Given the description of an element on the screen output the (x, y) to click on. 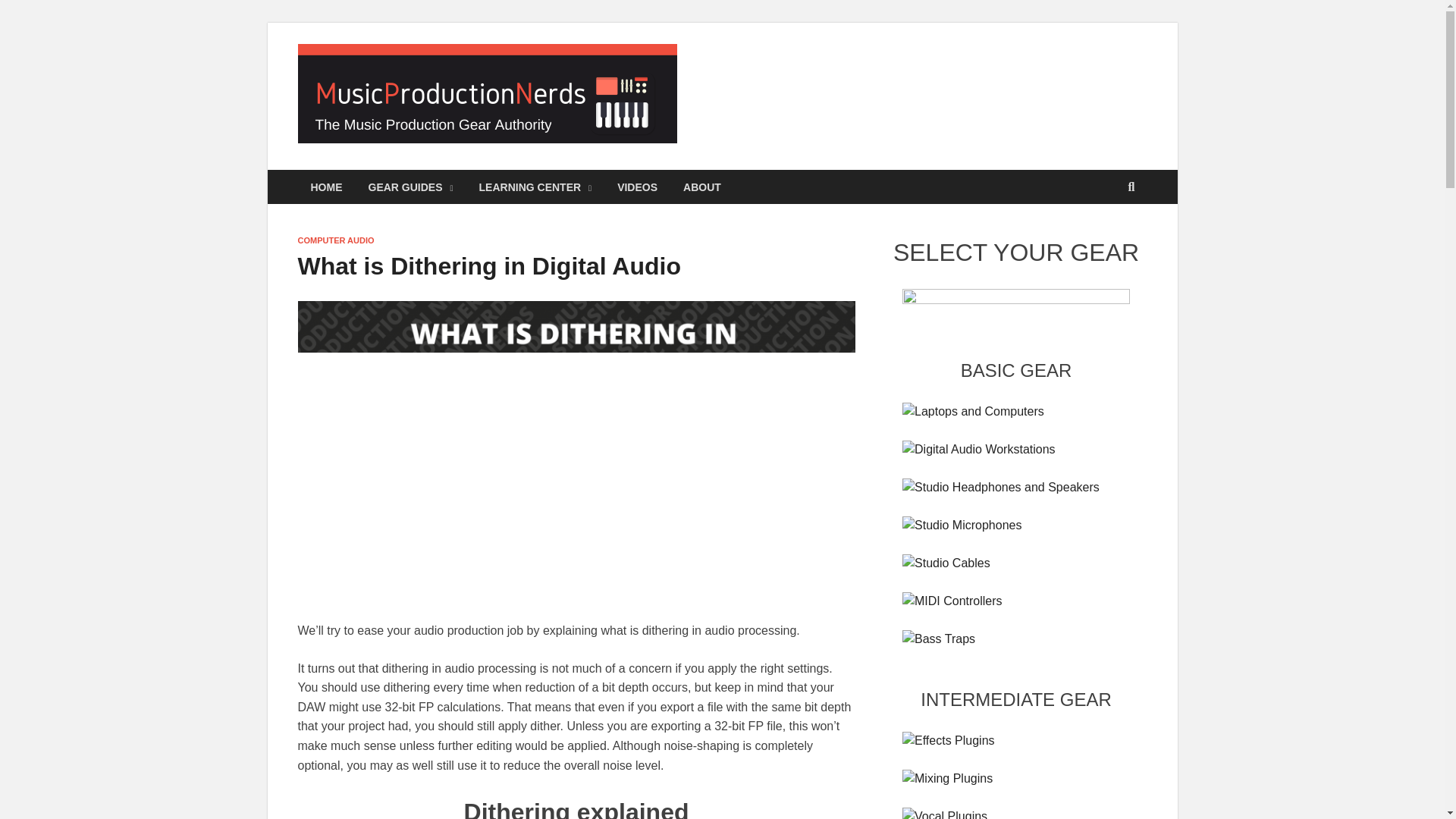
VIDEOS (636, 186)
LEARNING CENTER (535, 186)
COMPUTER AUDIO (335, 239)
HOME (326, 186)
ABOUT (701, 186)
GEAR GUIDES (410, 186)
Music Production Nerds (845, 74)
